Given the description of an element on the screen output the (x, y) to click on. 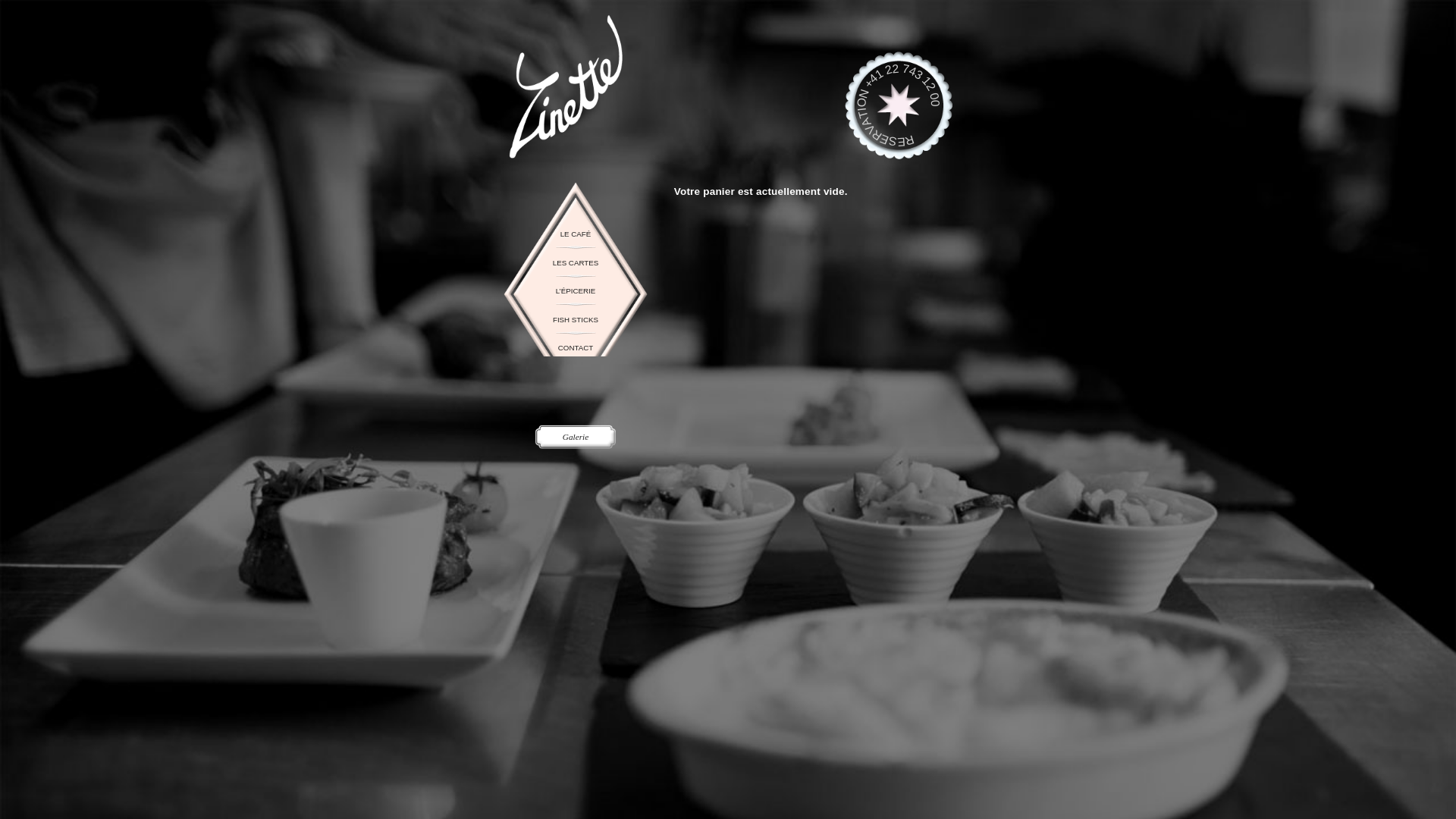
CONTACT Element type: text (766, 462)
FISH STICKS Element type: text (767, 425)
Galerie Element type: text (766, 581)
LES CARTES Element type: text (767, 349)
